Given the description of an element on the screen output the (x, y) to click on. 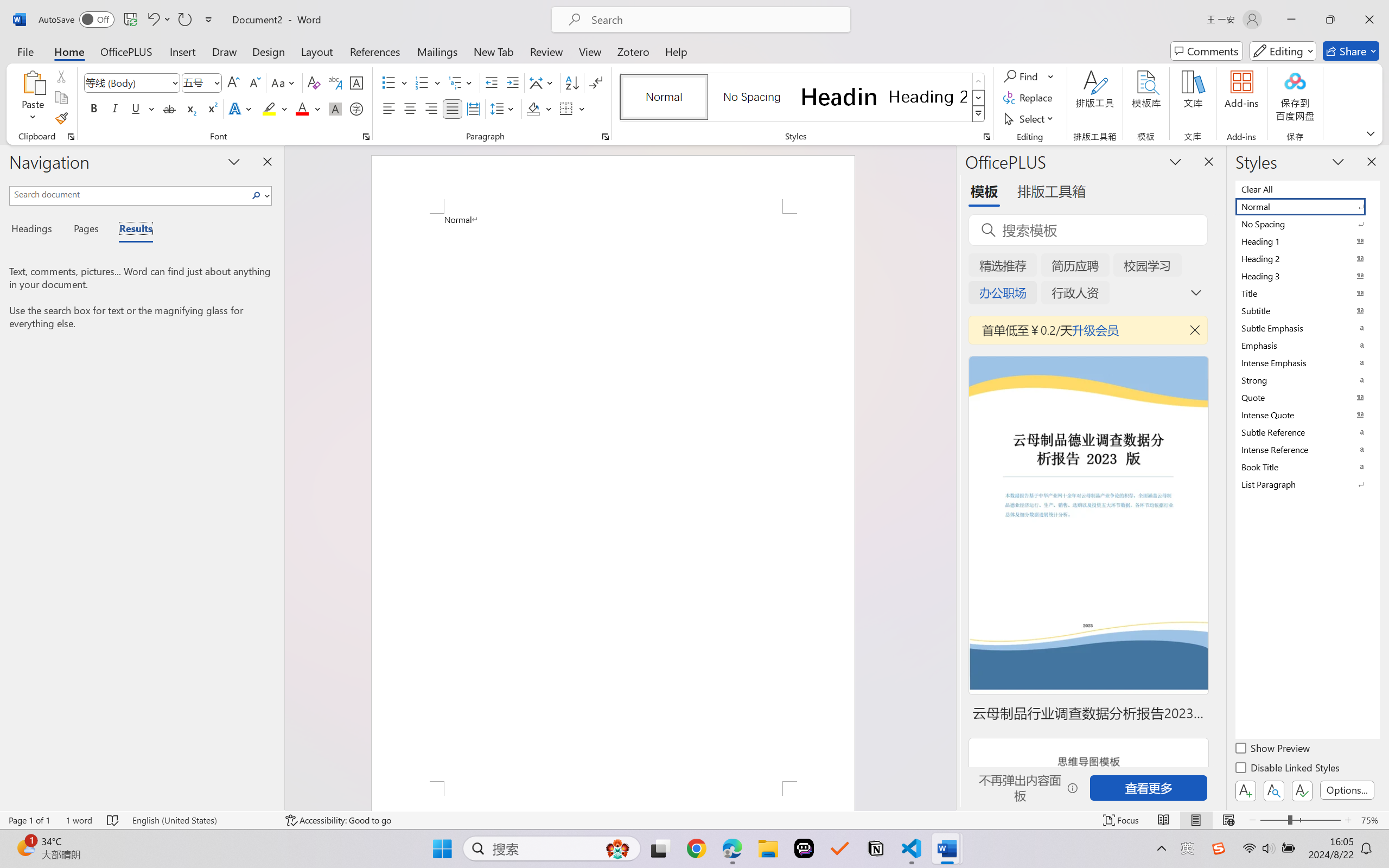
Heading 1 (839, 96)
Shrink Font (253, 82)
Save (130, 19)
Subtitle (1306, 310)
Subtle Reference (1306, 431)
Numbering (428, 82)
Intense Emphasis (1306, 362)
Print Layout (1196, 819)
Share (1350, 51)
References (375, 51)
Open (215, 82)
Find (1022, 75)
Class: NetUIImage (978, 114)
